Given the description of an element on the screen output the (x, y) to click on. 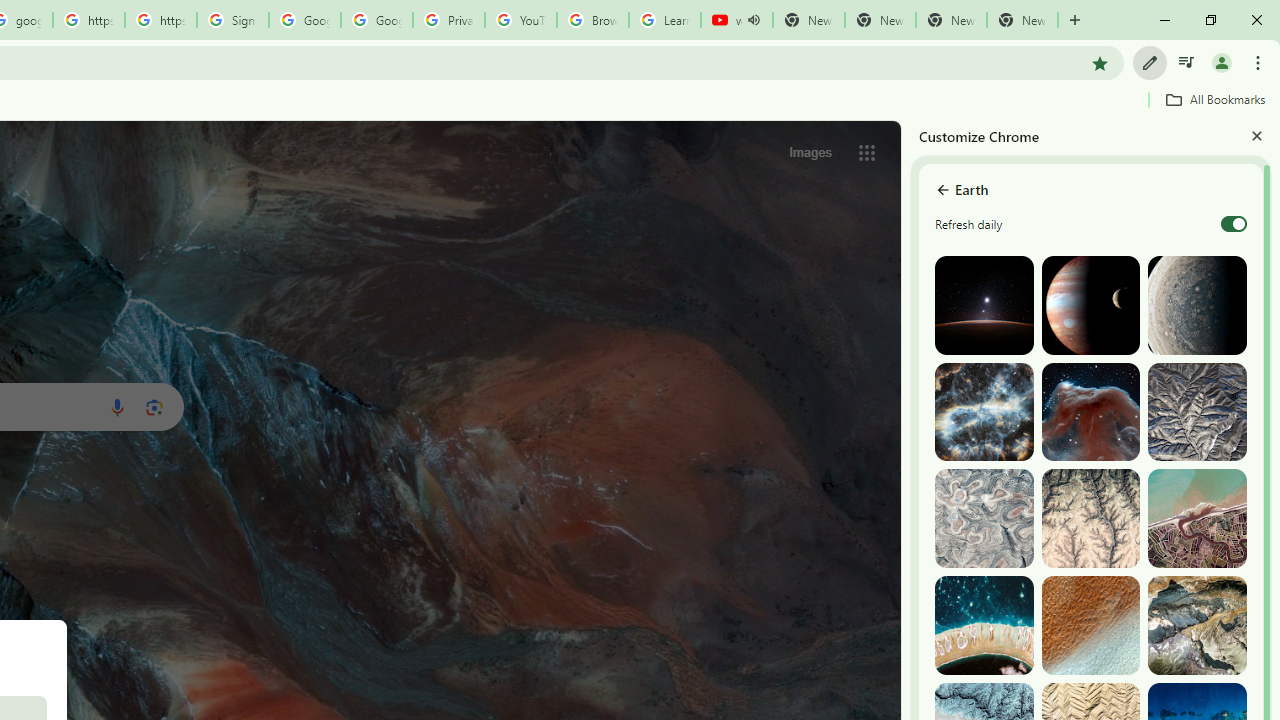
New Tab (1022, 20)
Customize Chrome (1149, 62)
Mute tab (753, 20)
Refresh daily (1233, 223)
Photo by NASA Image Library (1090, 412)
Browse Chrome as a guest - Computer - Google Chrome Help (592, 20)
YouTube (520, 20)
Sign in - Google Accounts (232, 20)
Zermatt, Wallis, Switzerland (1197, 625)
All Bookmarks (1215, 99)
